Given the description of an element on the screen output the (x, y) to click on. 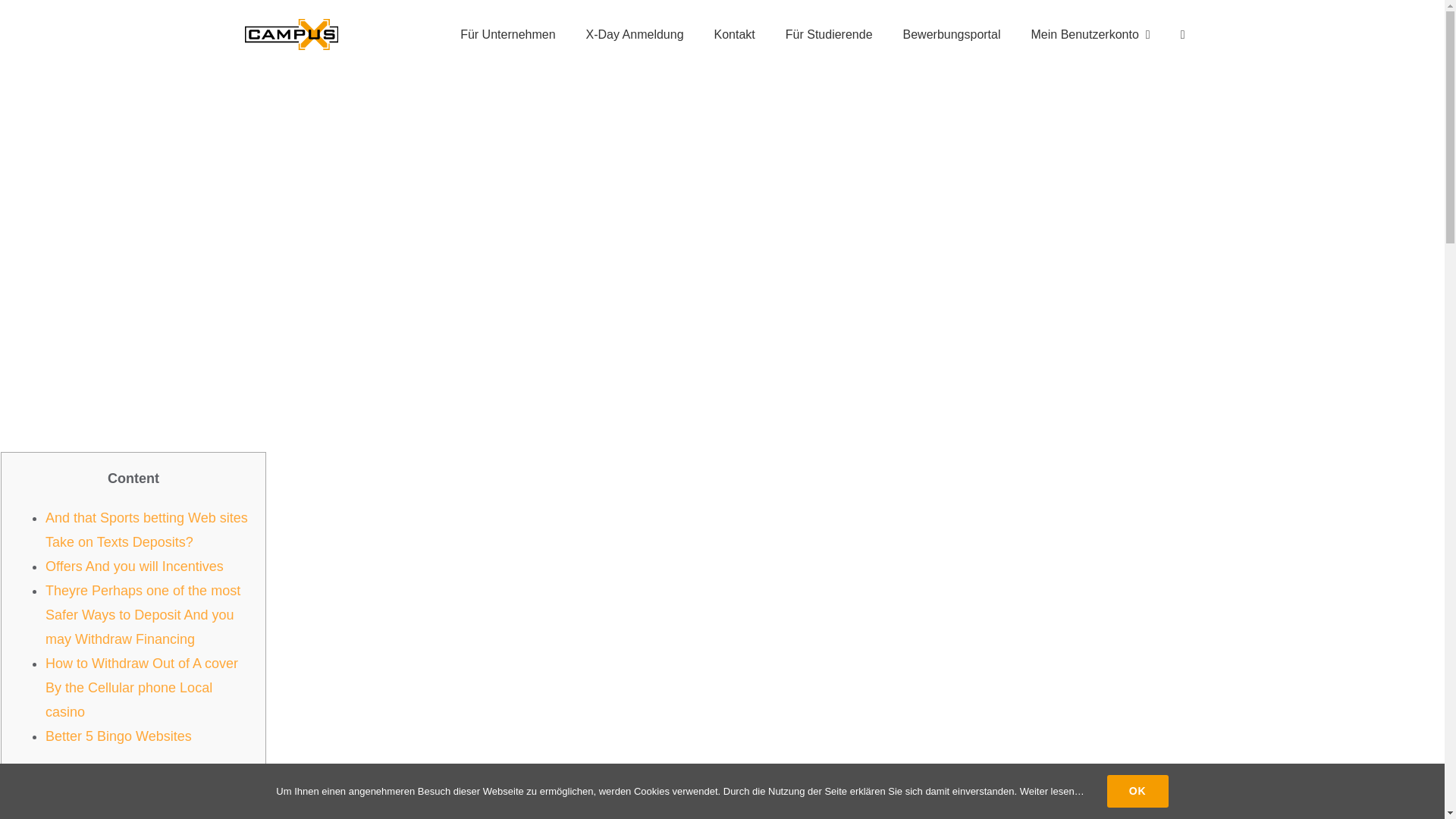
Kontakt (734, 34)
X-Day Anmeldung (634, 34)
And that Sports betting Web sites Take on Texts Deposits? (146, 529)
Mein Benutzerkonto (1091, 34)
Better 5 Bingo Websites (118, 735)
Anmelden (1097, 227)
Offers And you will Incentives (134, 566)
Bewerbungsportal (952, 34)
